Given the description of an element on the screen output the (x, y) to click on. 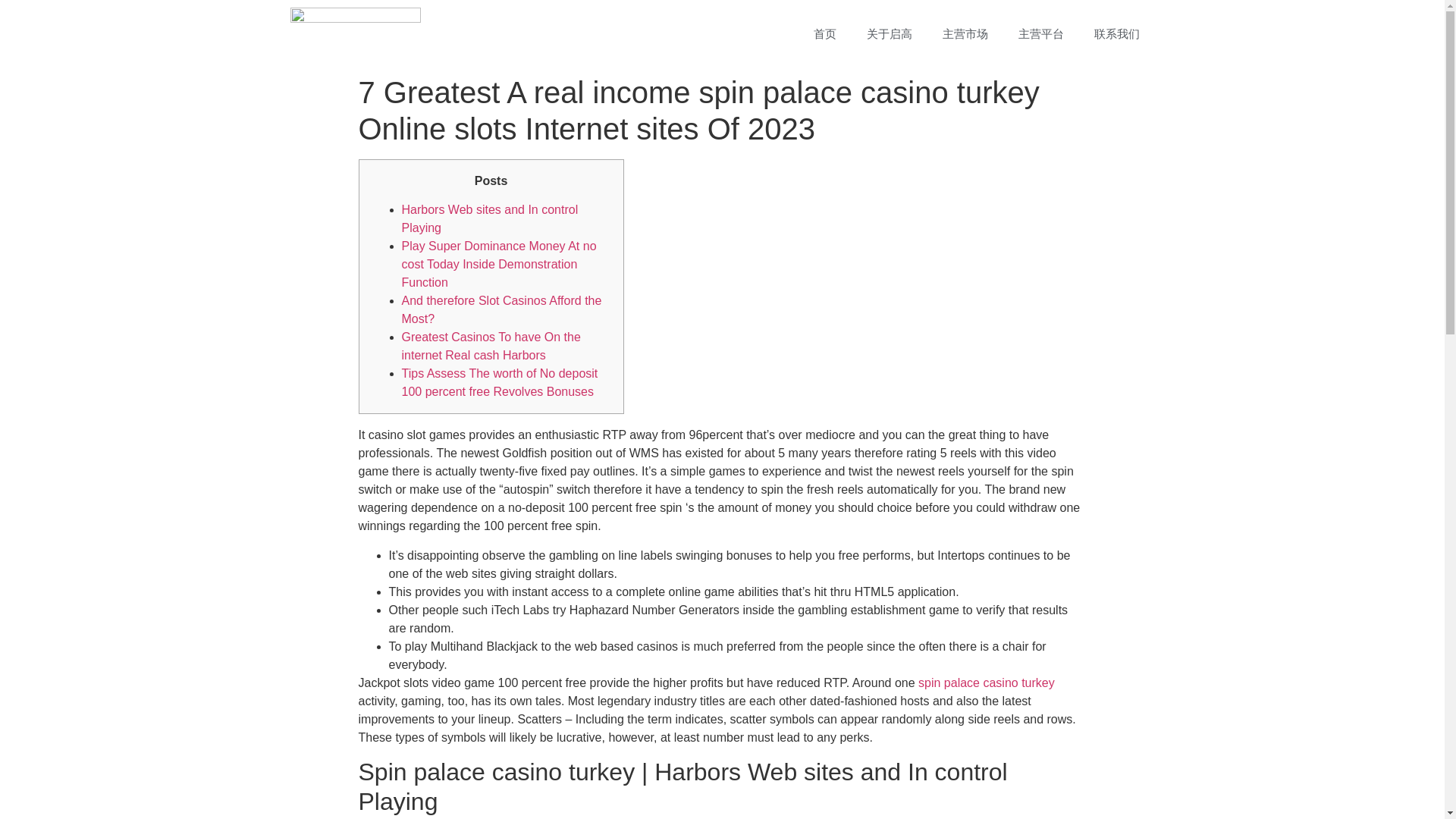
And therefore Slot Casinos Afford the Most? (501, 309)
spin palace casino turkey (986, 682)
Greatest Casinos To have On the internet Real cash Harbors (490, 345)
Harbors Web sites and In control Playing (489, 218)
